Given the description of an element on the screen output the (x, y) to click on. 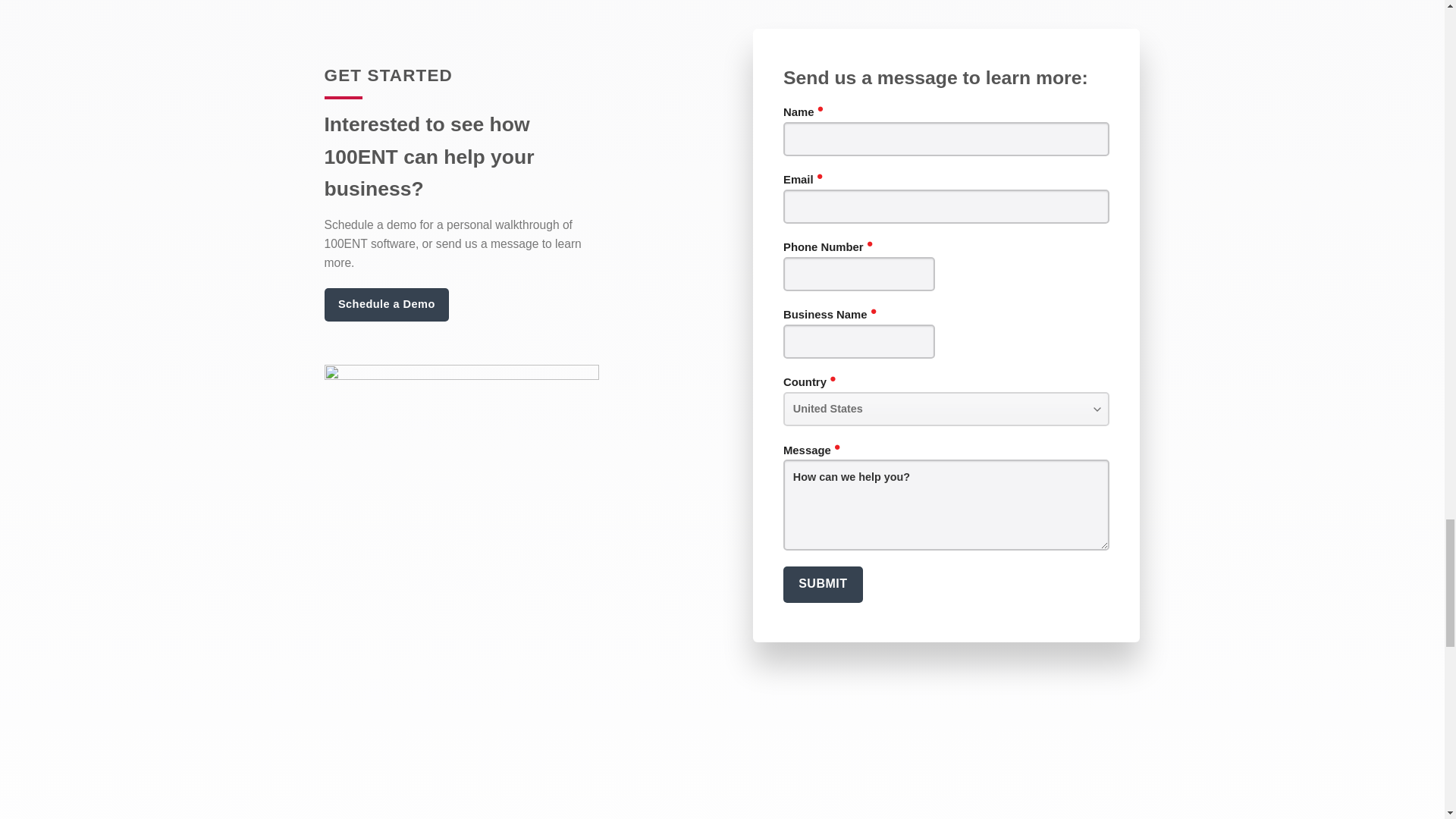
Submit (823, 584)
Schedule a Demo (386, 304)
Submit (823, 584)
